Given the description of an element on the screen output the (x, y) to click on. 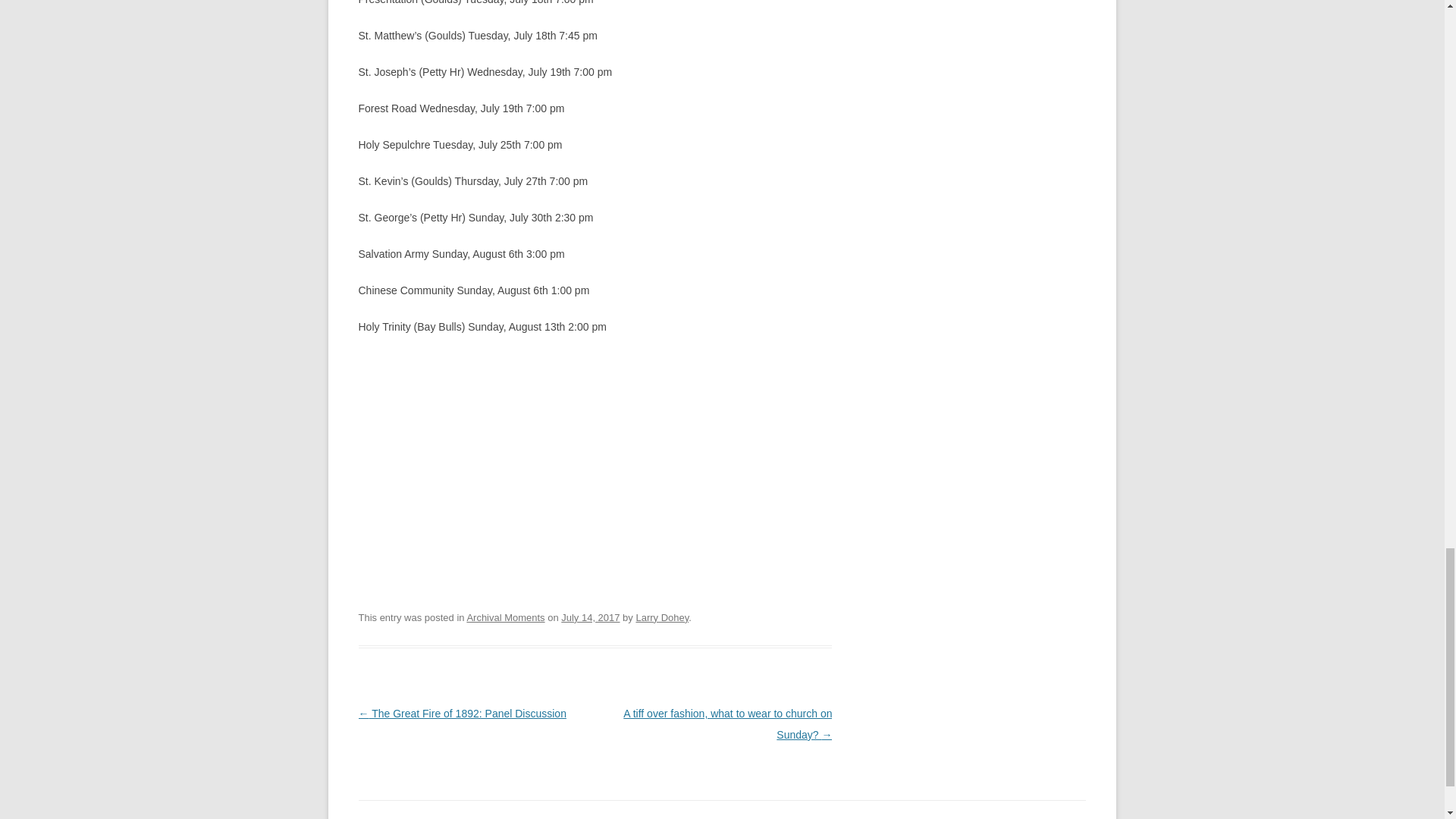
Archival Moments (504, 617)
Larry Dohey (661, 617)
View all posts by Larry Dohey (661, 617)
July 14, 2017 (590, 617)
7:00 am (590, 617)
